Given the description of an element on the screen output the (x, y) to click on. 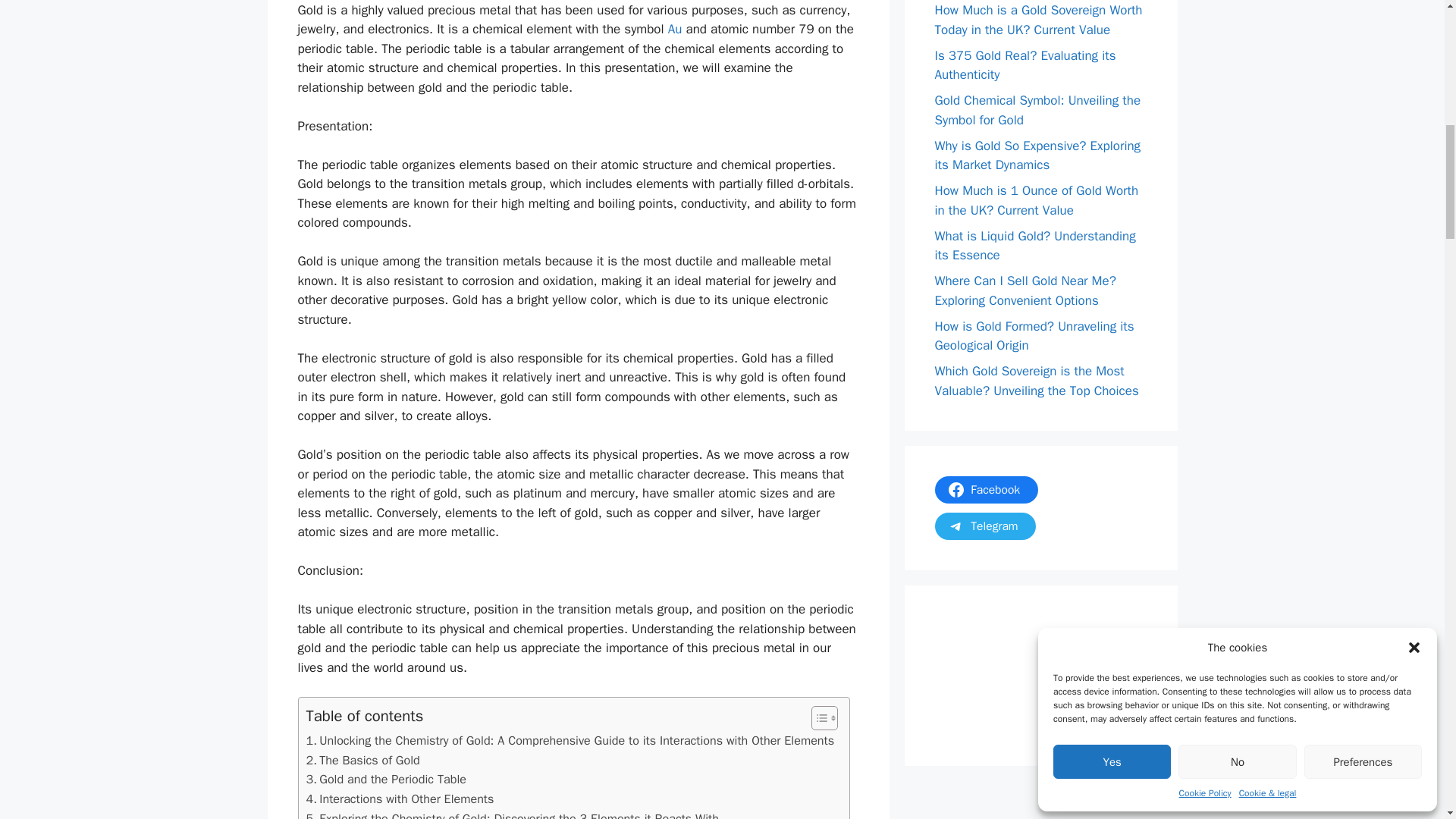
The Basics of Gold (362, 760)
Gold and the Periodic Table (385, 779)
Au (675, 28)
Interactions with Other Elements (400, 799)
Interactions with Other Elements (400, 799)
Gold and the Periodic Table (385, 779)
The Basics of Gold (362, 760)
